Given the description of an element on the screen output the (x, y) to click on. 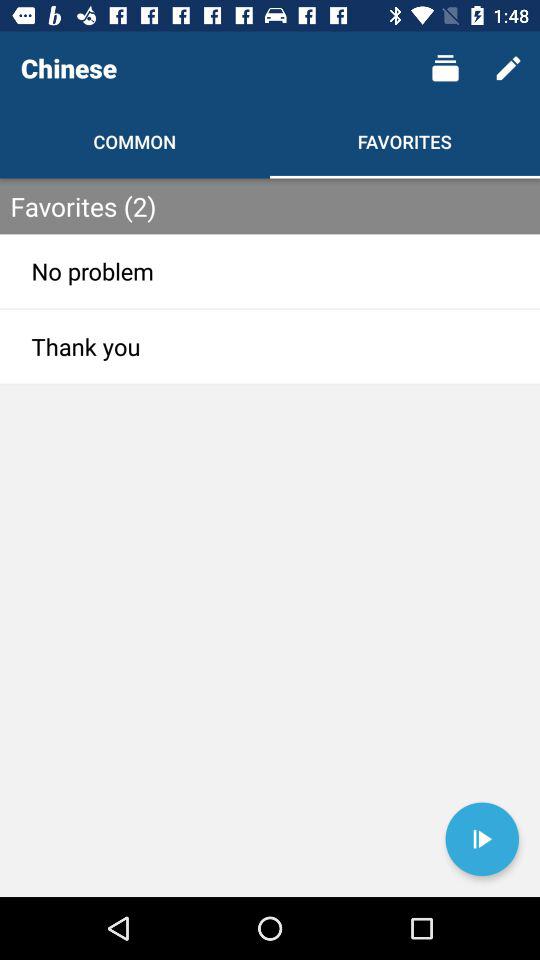
launch the item next to chinese icon (444, 67)
